Given the description of an element on the screen output the (x, y) to click on. 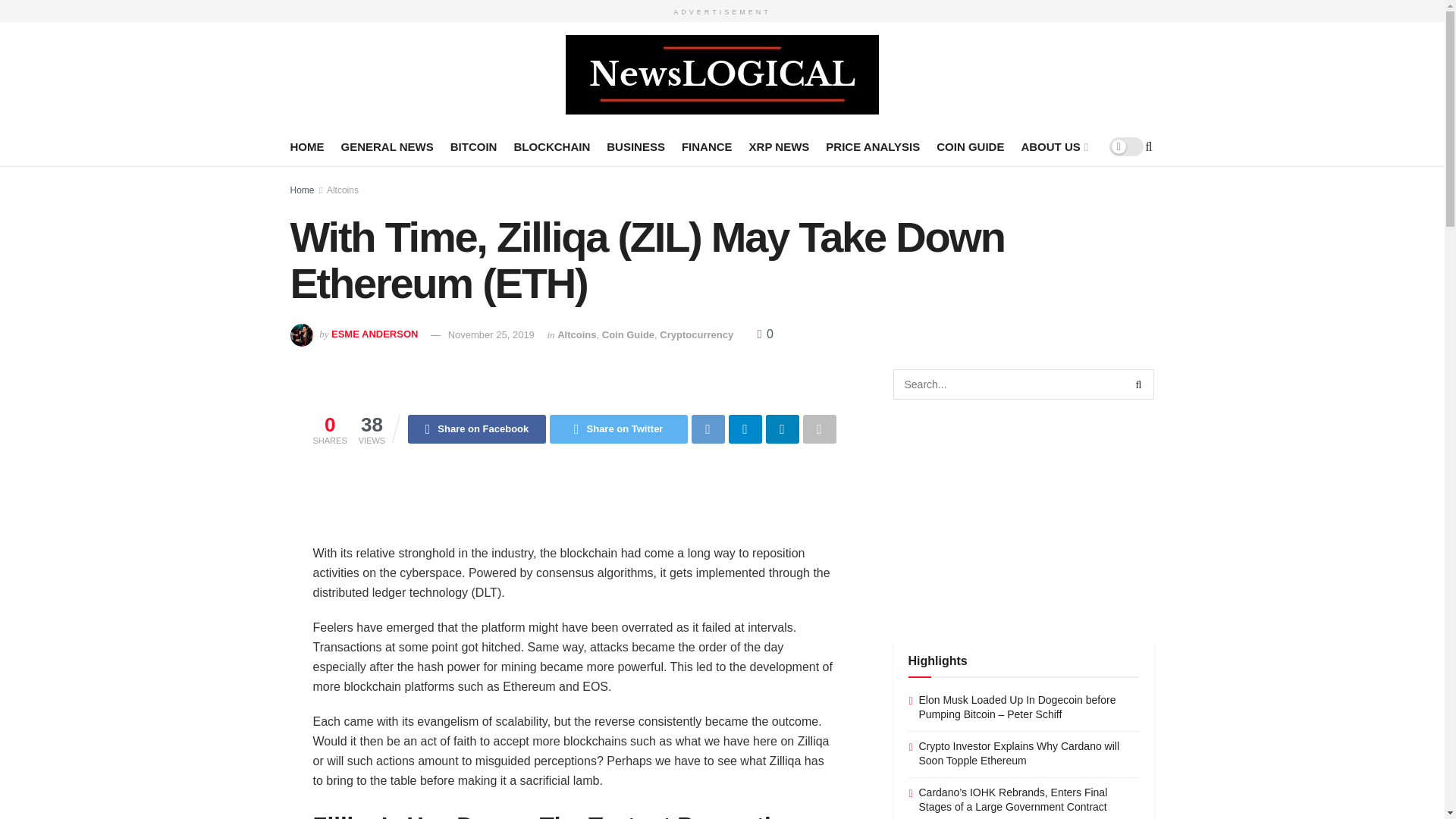
XRP NEWS (779, 146)
COIN GUIDE (970, 146)
GENERAL NEWS (386, 146)
BLOCKCHAIN (551, 146)
Advertisement (588, 504)
ABOUT US (1053, 146)
BITCOIN (473, 146)
BUSINESS (636, 146)
PRICE ANALYSIS (872, 146)
Advertisement (1023, 516)
